Given the description of an element on the screen output the (x, y) to click on. 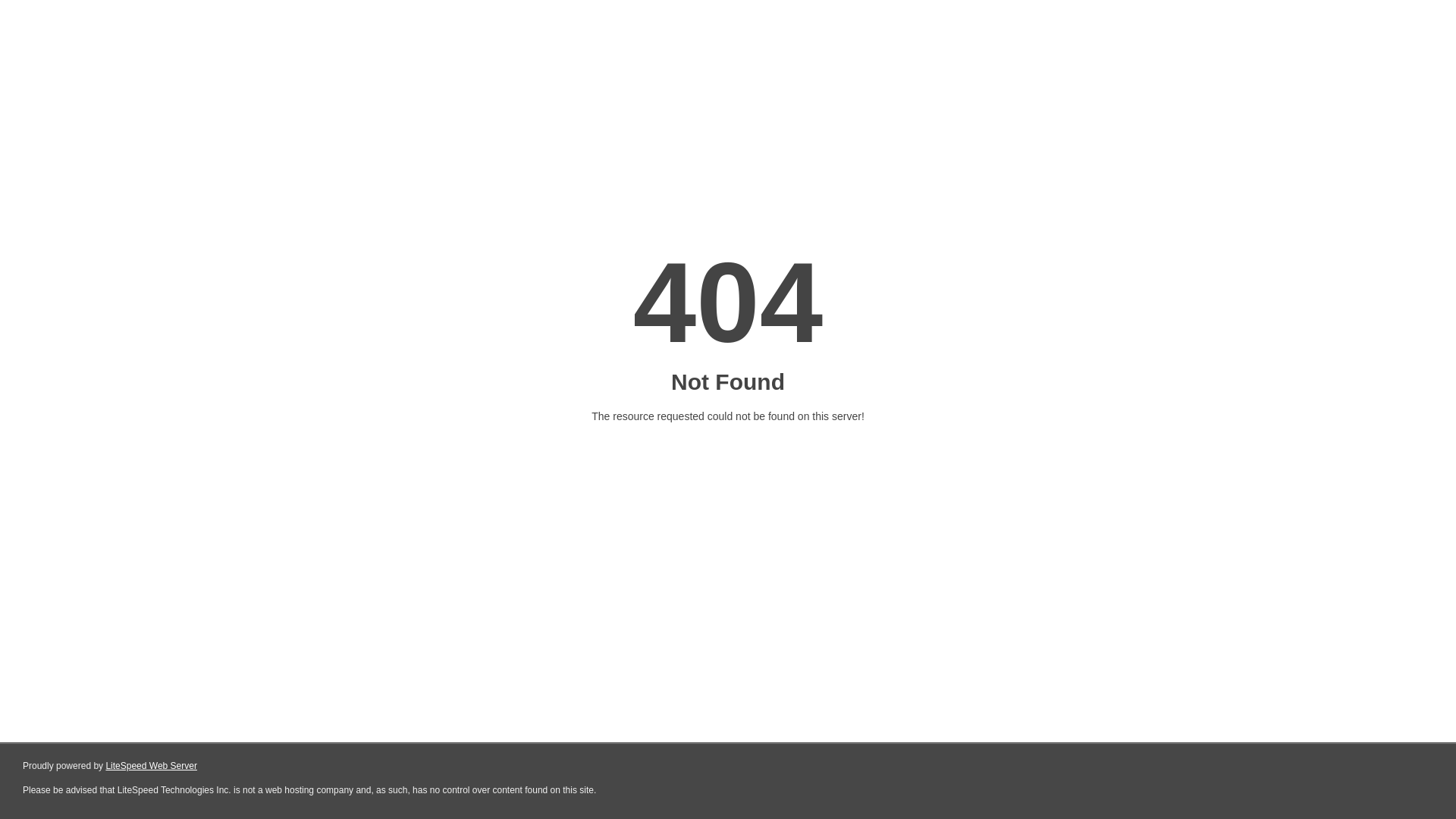
LiteSpeed Web Server Element type: text (151, 765)
